Given the description of an element on the screen output the (x, y) to click on. 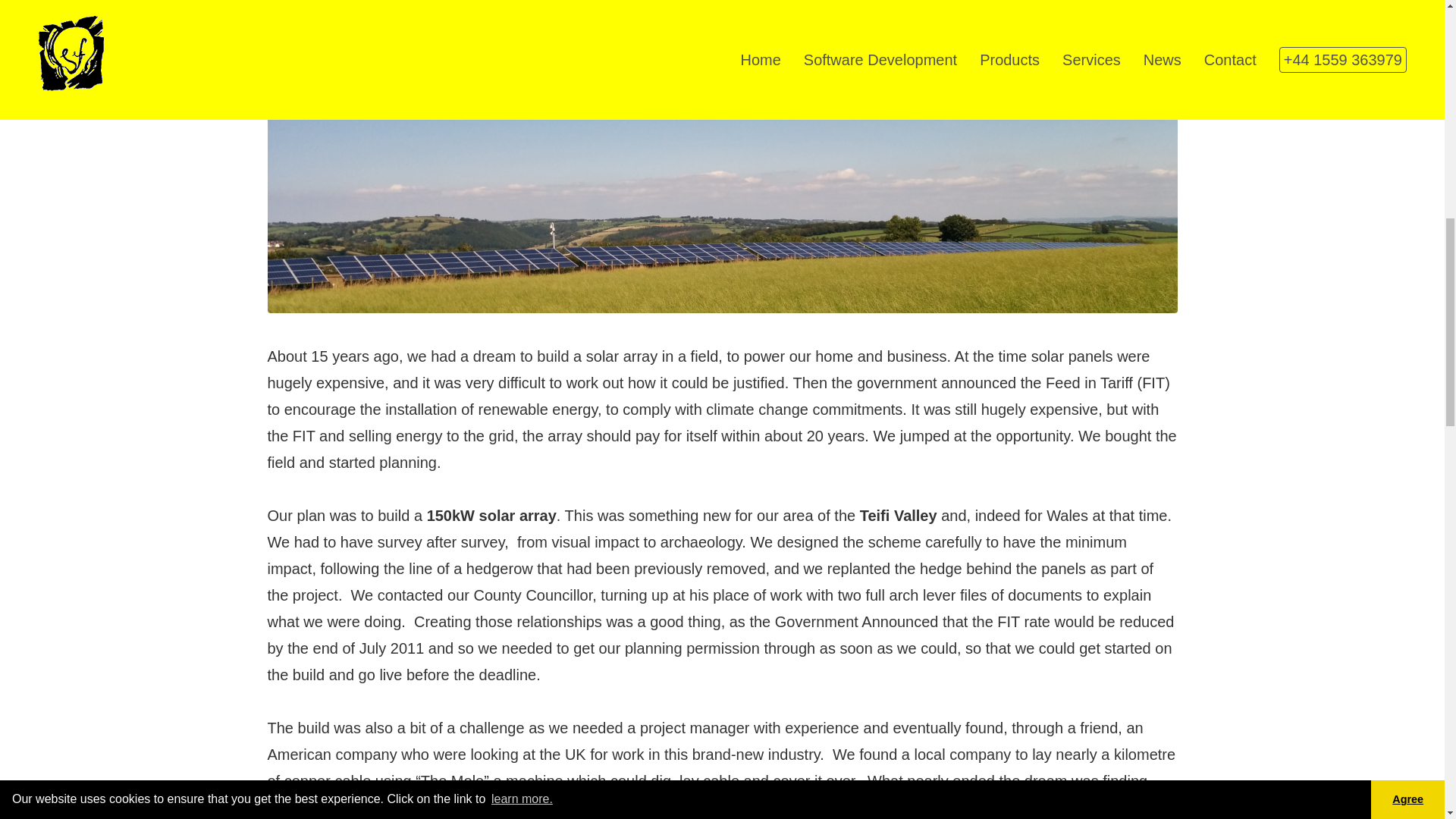
Glen Peters at Rhosygilwen (897, 807)
